Given the description of an element on the screen output the (x, y) to click on. 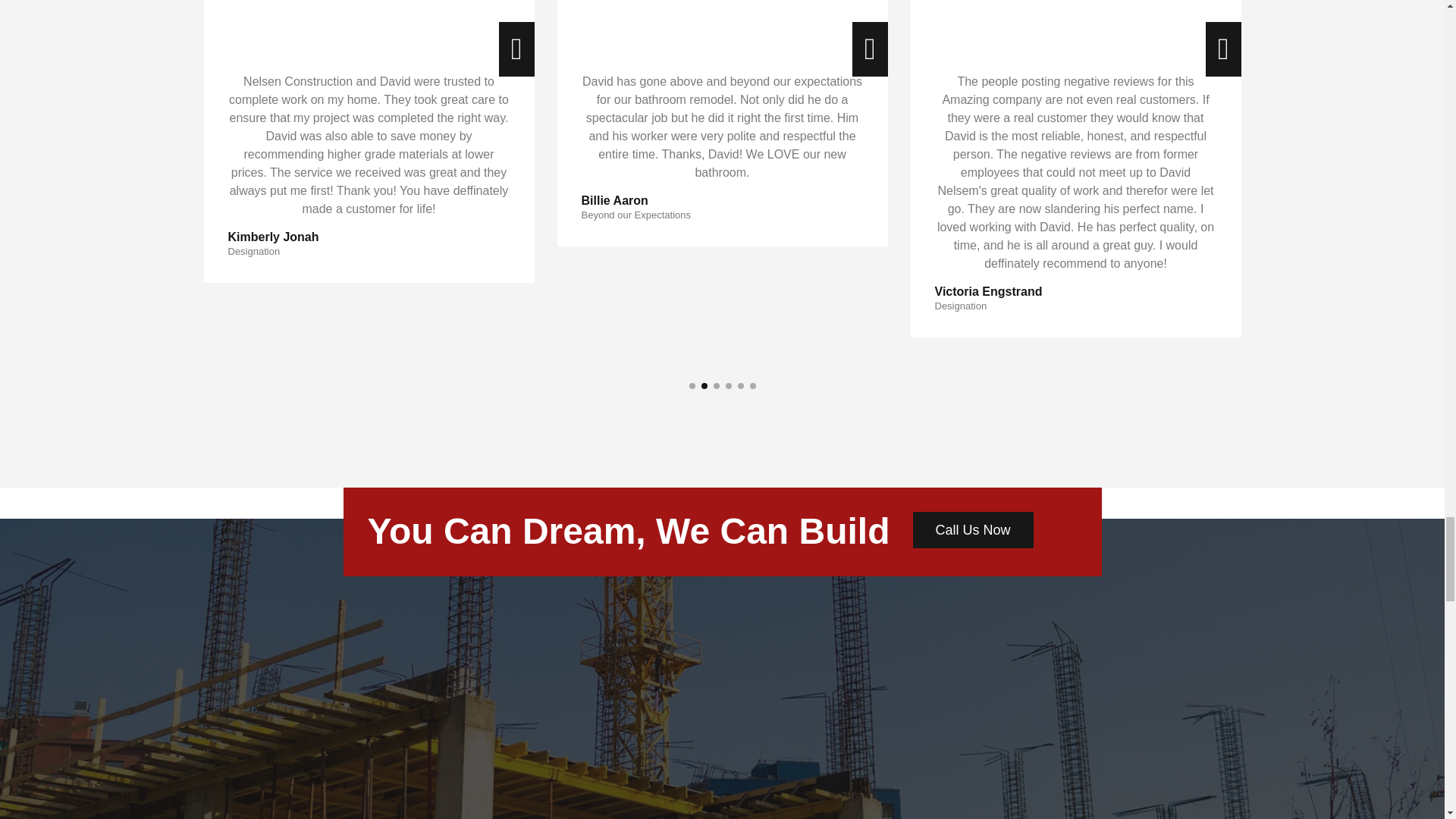
Call Us Now (972, 529)
laughing-business-woman-2022-11-16-20-31-29-utc.jpg (1075, 24)
business-woman-portrait-indoors-2021-10-13-20-02-58-utc.jpg (368, 24)
